Given the description of an element on the screen output the (x, y) to click on. 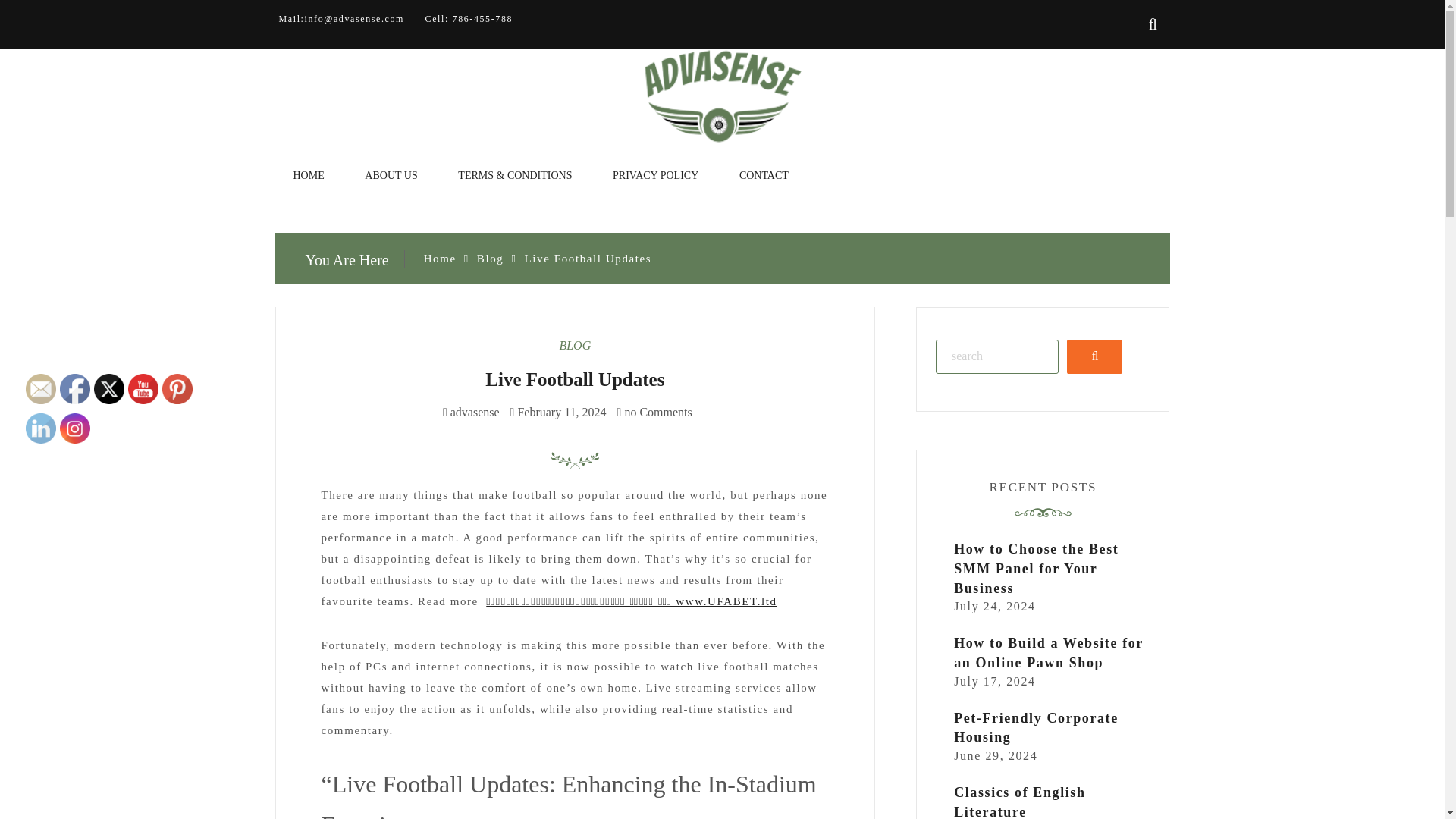
no Comments (655, 411)
Search (1094, 356)
CONTACT (763, 175)
Follow by Email (41, 388)
How to Build a Website for an Online Pawn Shop (1047, 653)
BLOG (575, 345)
Twitter (108, 388)
PRIVACY POLICY (655, 175)
February 11, 2024 (560, 411)
Cell: 786-455-788 (469, 18)
Facebook (74, 388)
ABOUT US (390, 175)
HOME (308, 175)
Home (440, 258)
Classics of English Literature (1018, 802)
